Given the description of an element on the screen output the (x, y) to click on. 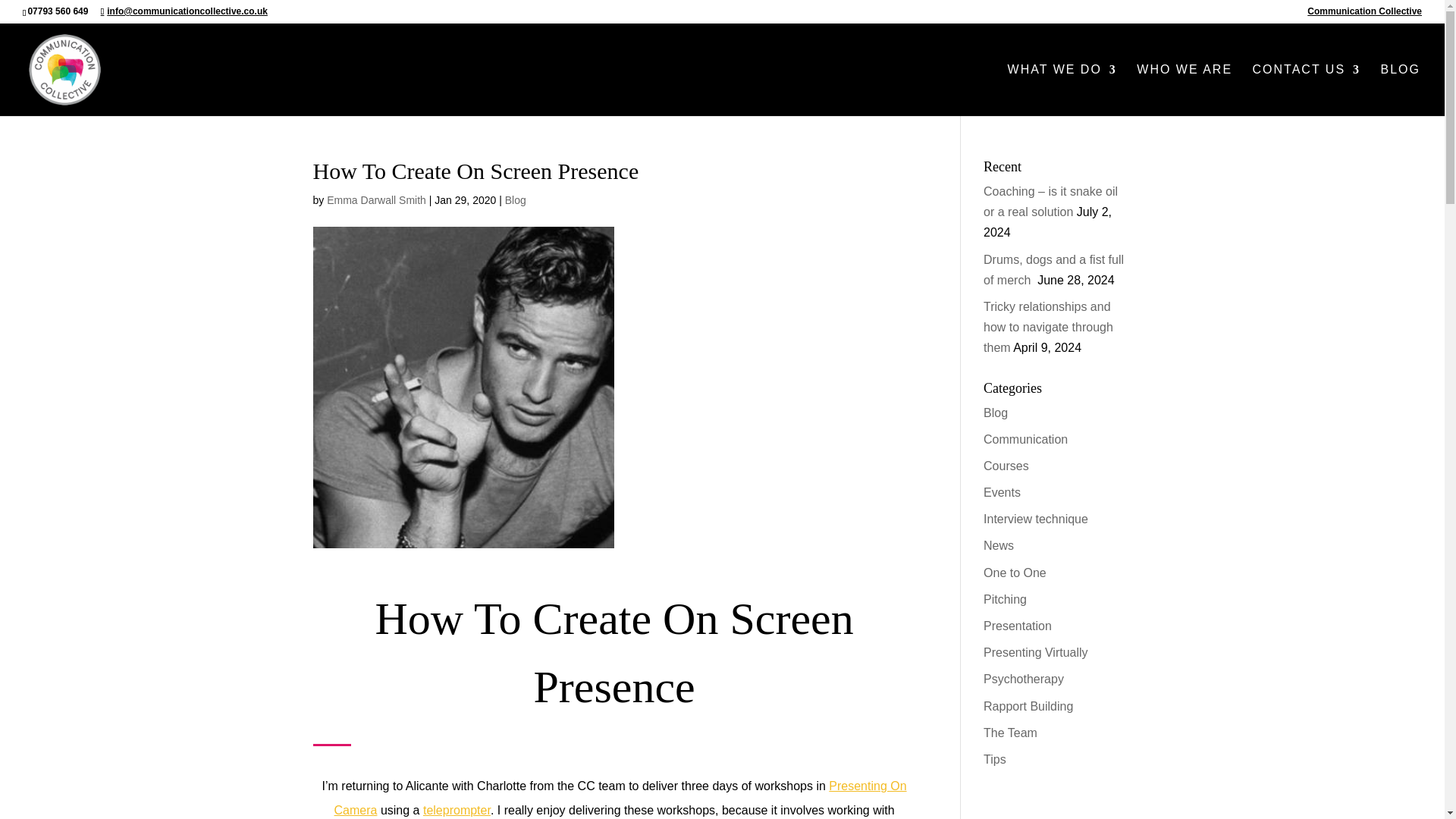
CONTACT US (1306, 90)
Posts by Emma Darwall Smith (376, 200)
WHAT WE DO (1061, 90)
WHO WE ARE (1184, 90)
Communication Collective (1364, 14)
